Given the description of an element on the screen output the (x, y) to click on. 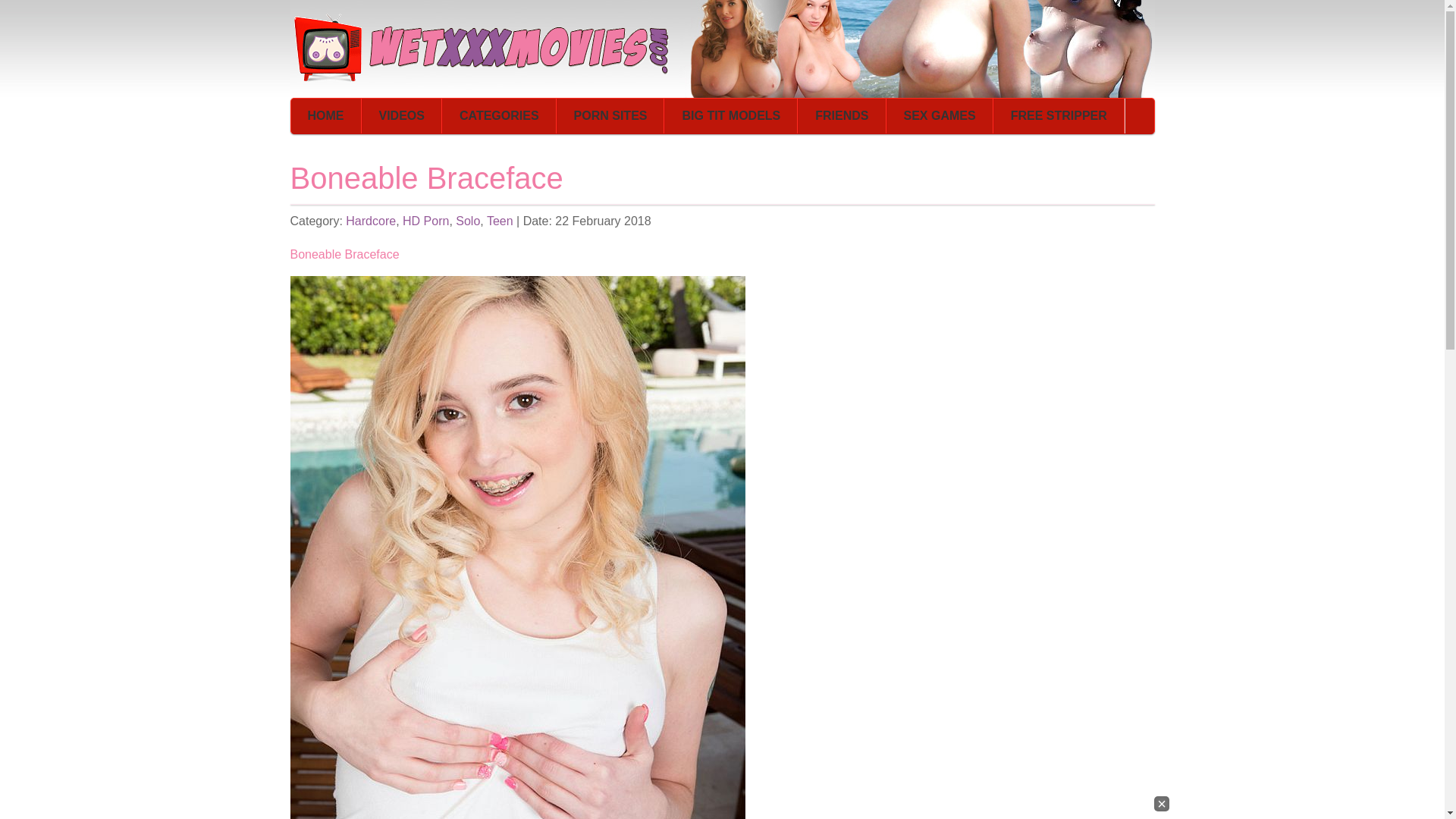
Big Tit Models (730, 115)
HOME (326, 115)
CATEGORIES (499, 115)
Home (326, 115)
VIDEOS (401, 115)
